Given the description of an element on the screen output the (x, y) to click on. 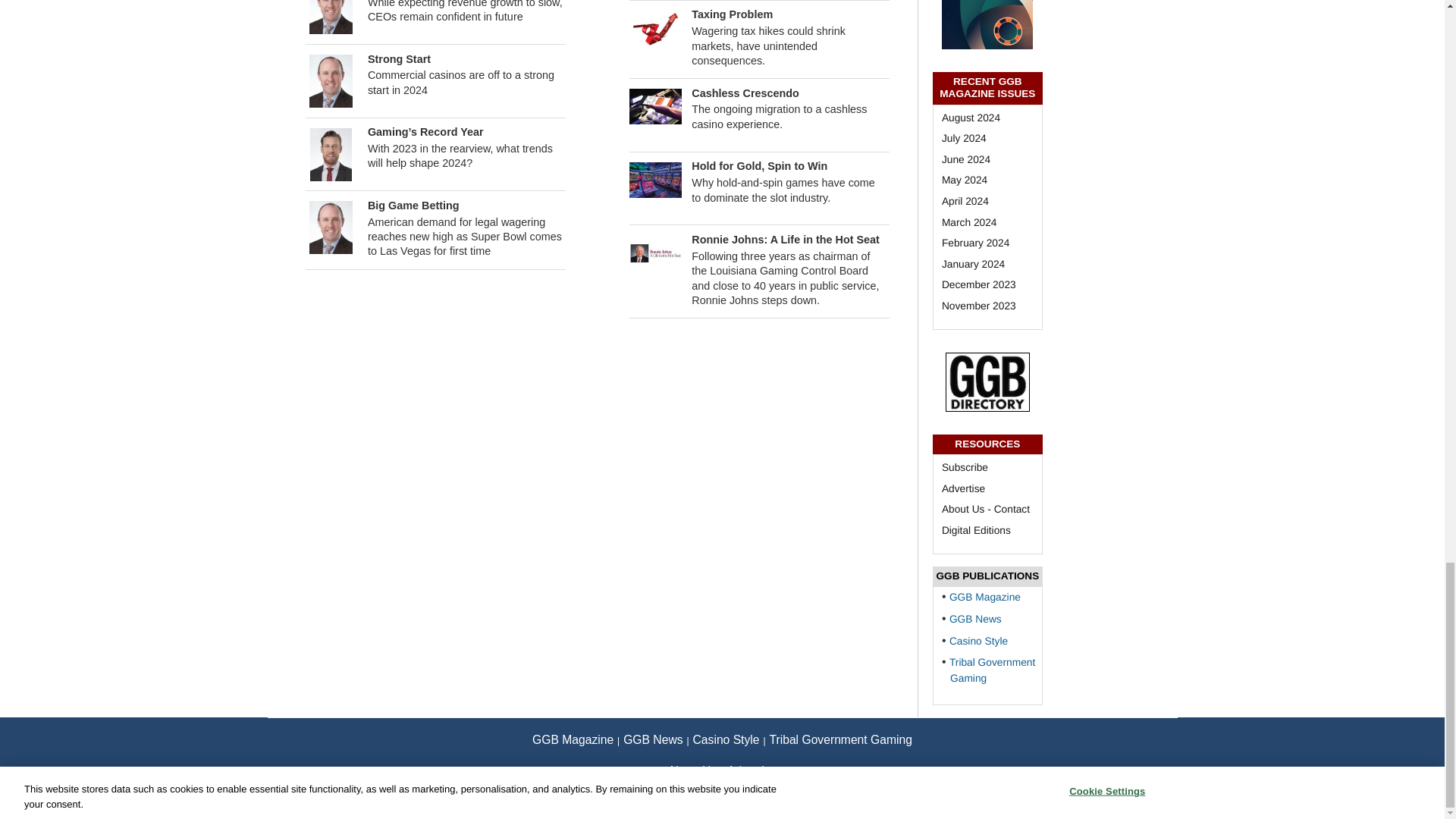
Strong Start (330, 80)
The Spring Outlook (330, 7)
